Given the description of an element on the screen output the (x, y) to click on. 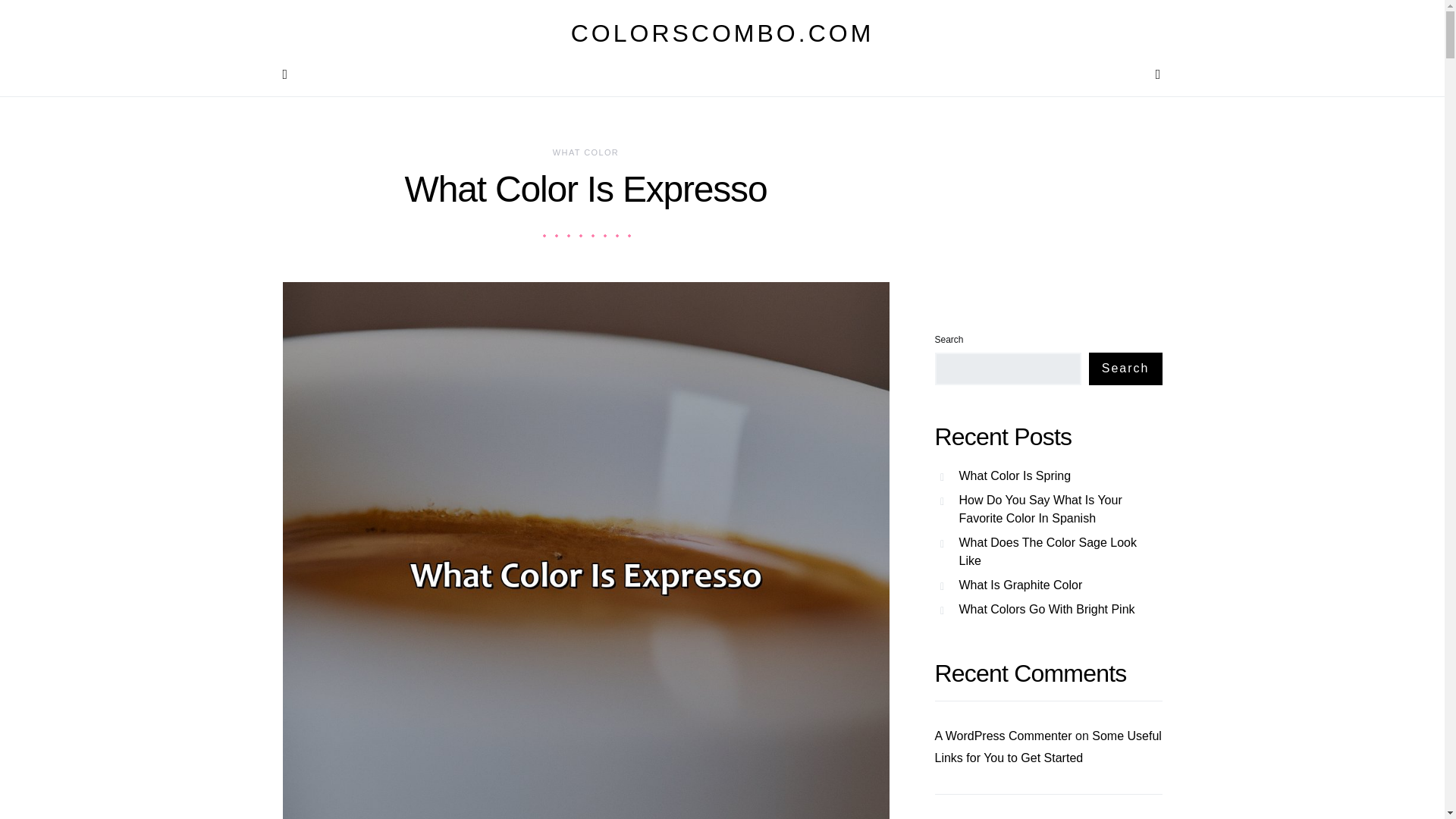
WHAT COLOR (585, 152)
COLORSCOMBO.COM (722, 33)
